Given the description of an element on the screen output the (x, y) to click on. 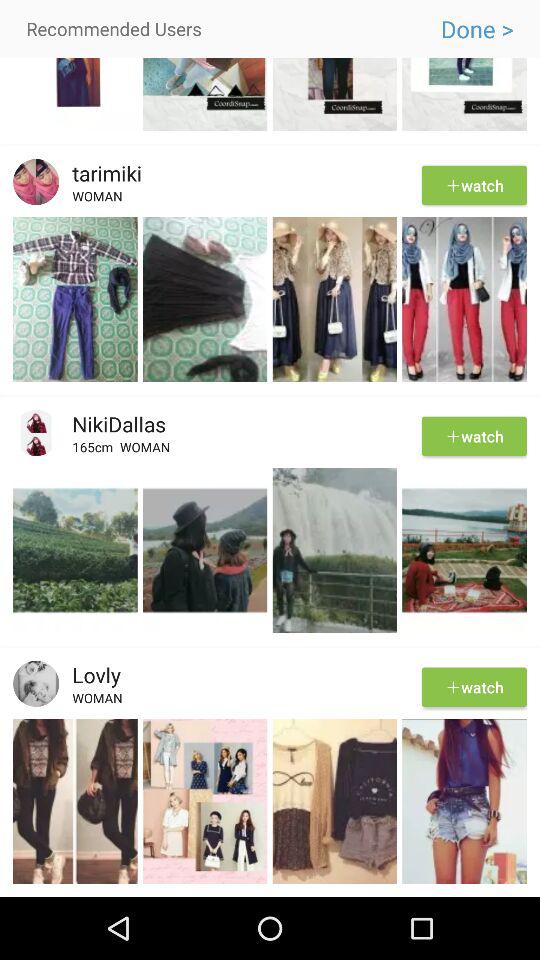
click tarimiki icon (100, 173)
